Given the description of an element on the screen output the (x, y) to click on. 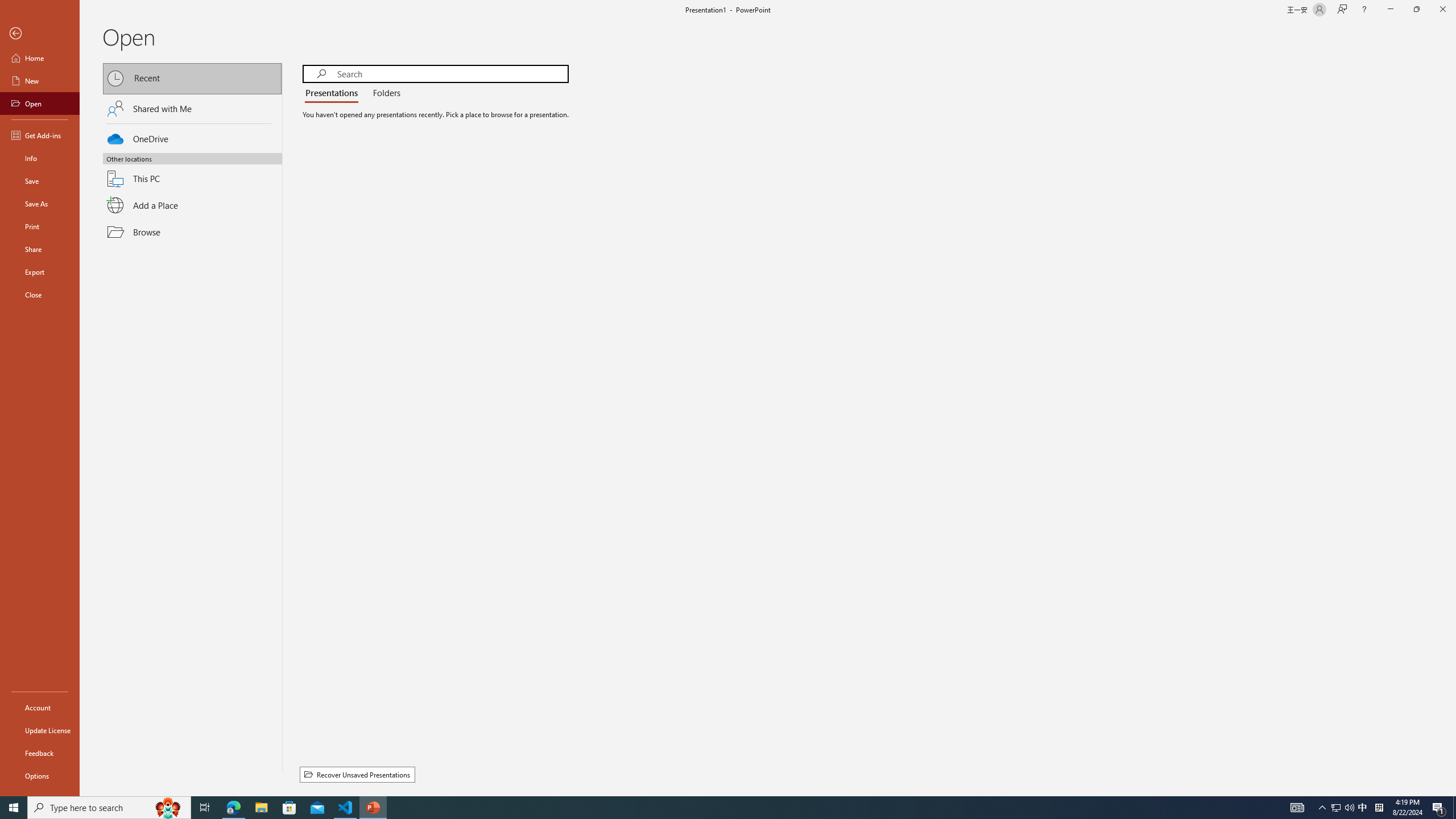
OneDrive (192, 136)
Folders (384, 93)
Shared with Me (192, 108)
Add a Place (192, 204)
